Given the description of an element on the screen output the (x, y) to click on. 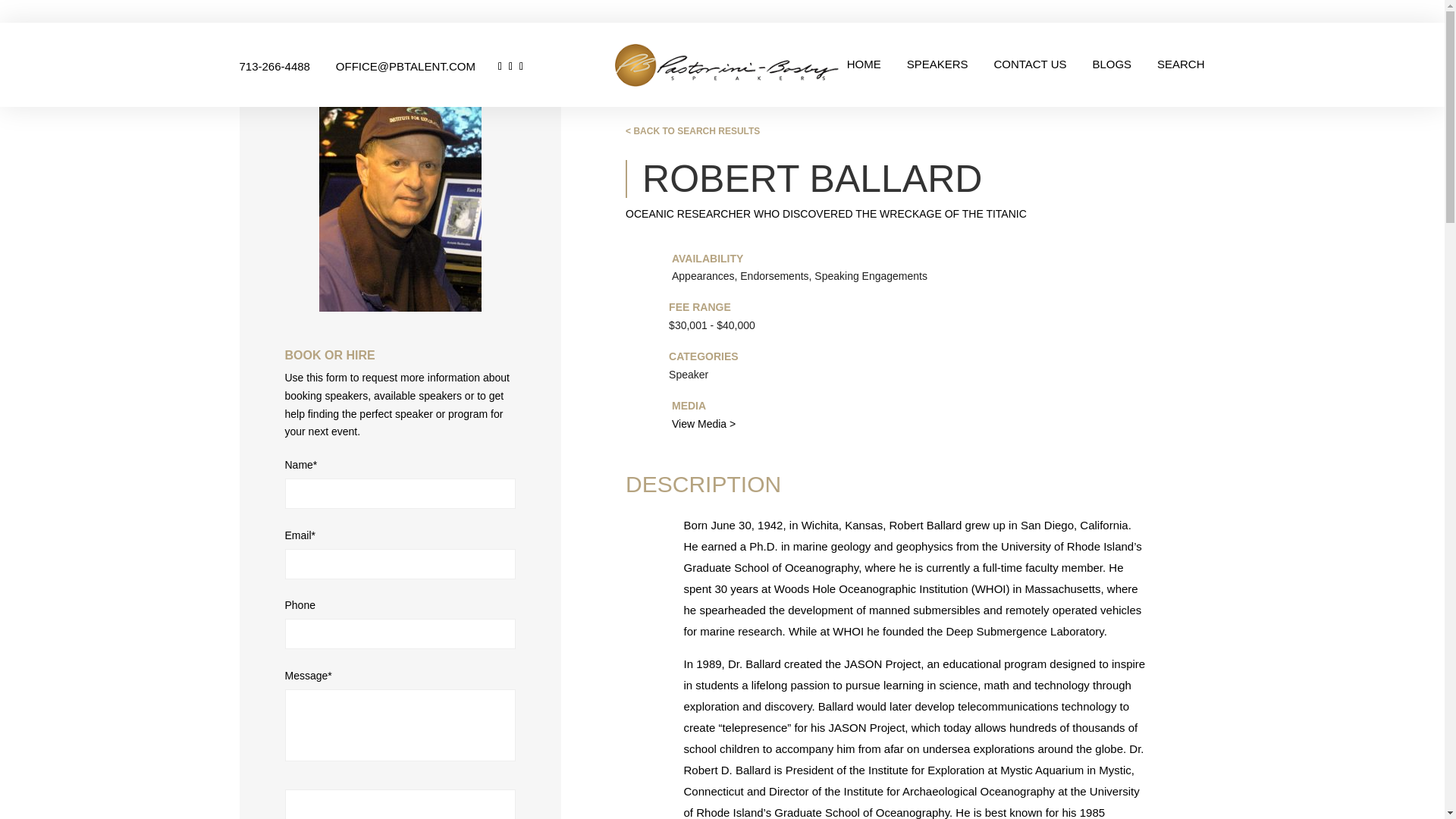
SEARCH (1181, 71)
713-266-4488 (286, 65)
SPEAKERS (937, 71)
CONTACT US (1028, 71)
Robert Ballard (925, 524)
